Given the description of an element on the screen output the (x, y) to click on. 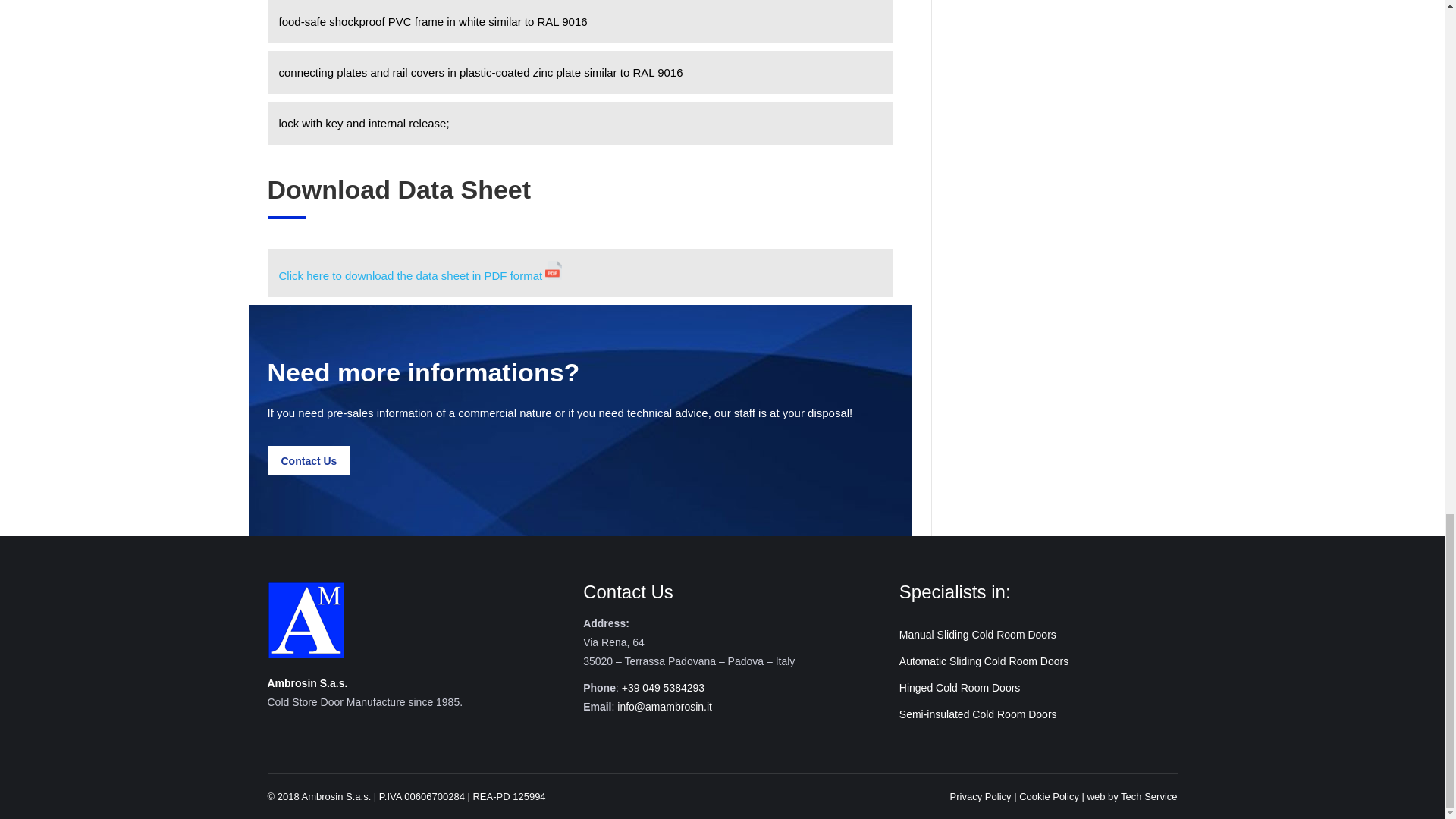
Posizionamento Siti Web Padova (1148, 796)
Contact Us (308, 460)
Click here to download the data sheet in PDF format (411, 275)
